Given the description of an element on the screen output the (x, y) to click on. 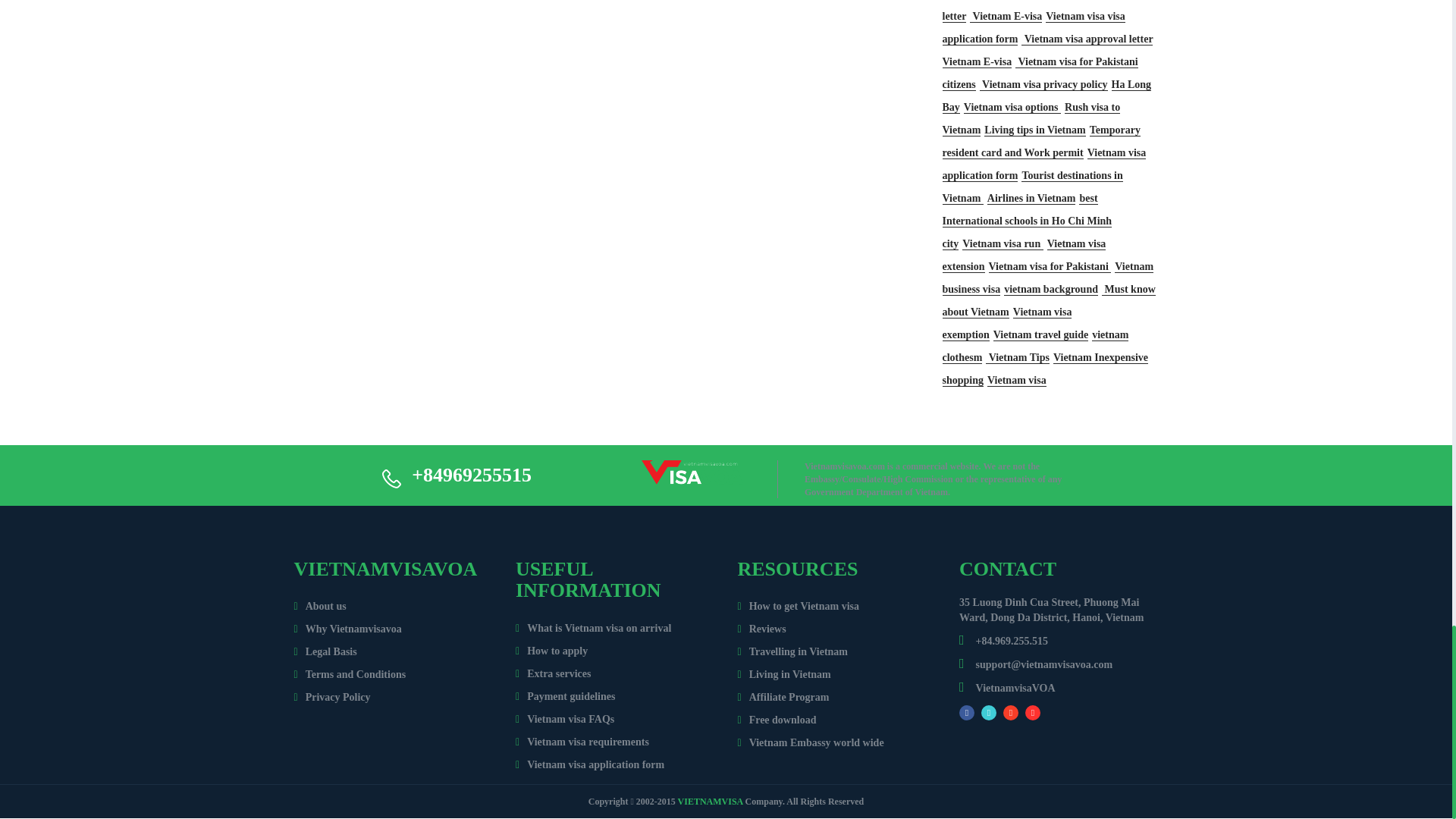
Payment guidelines (564, 696)
Vietnam visa application form (589, 764)
About us (320, 605)
Privacy Policy (332, 696)
Vietnam visa requirements (582, 741)
Why Vietnamvisavoa (347, 628)
How to apply  (551, 650)
Extra services (553, 673)
Terms and Conditions (350, 674)
Vietnam visa FAQs (564, 718)
How to get Vietnam visa (797, 605)
Legal Basis (325, 651)
Reviews (761, 628)
What is Vietnam visa on arrival (593, 627)
